Given the description of an element on the screen output the (x, y) to click on. 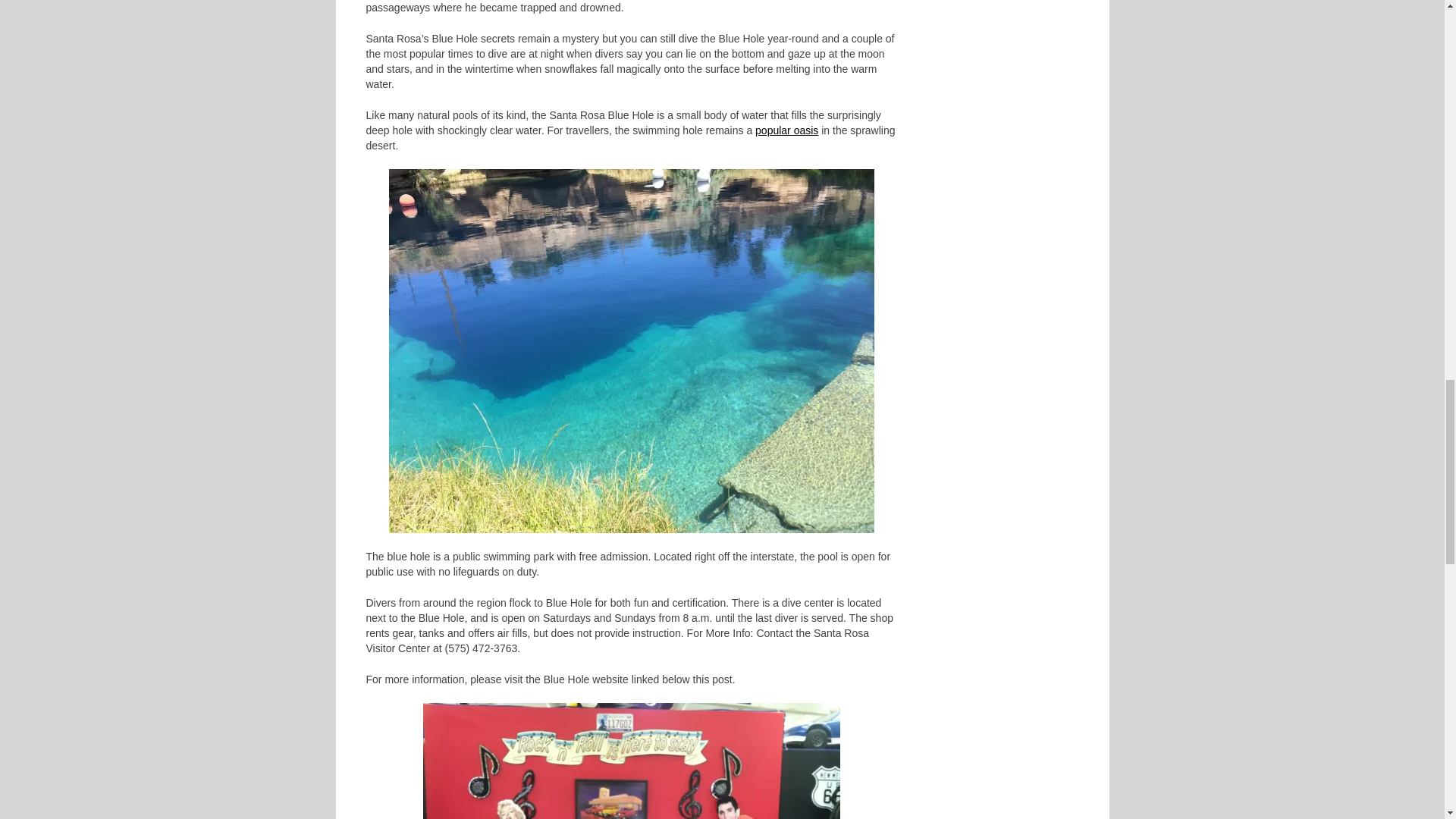
popular oasis (786, 130)
